Given the description of an element on the screen output the (x, y) to click on. 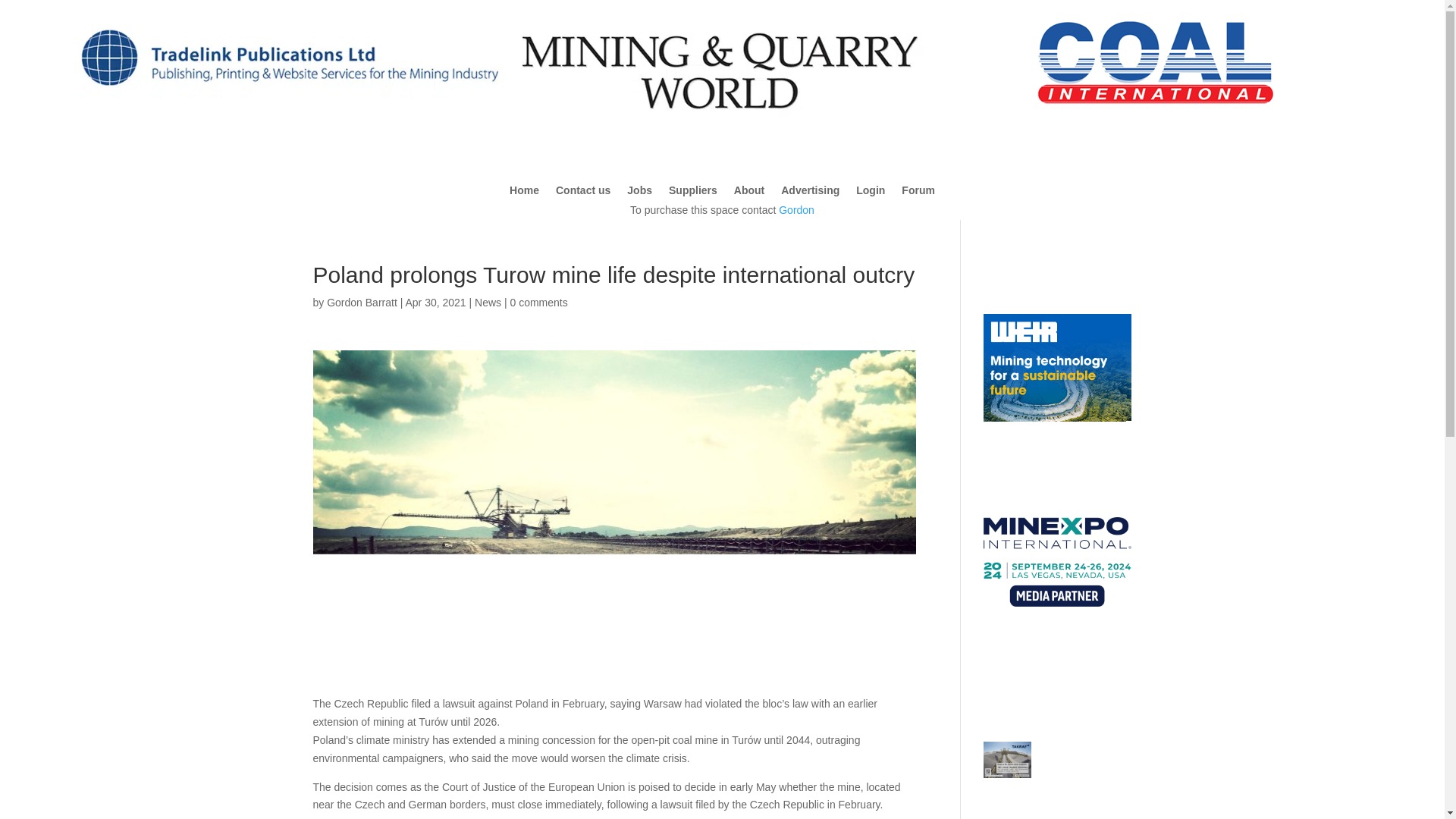
Coal internalional (1156, 61)
Jobs (639, 193)
About (748, 193)
Login (870, 193)
Gordon Barratt (361, 302)
Advertising (810, 193)
Suppliers (692, 193)
0 comments (538, 302)
Gordon (795, 209)
News (487, 302)
